Given the description of an element on the screen output the (x, y) to click on. 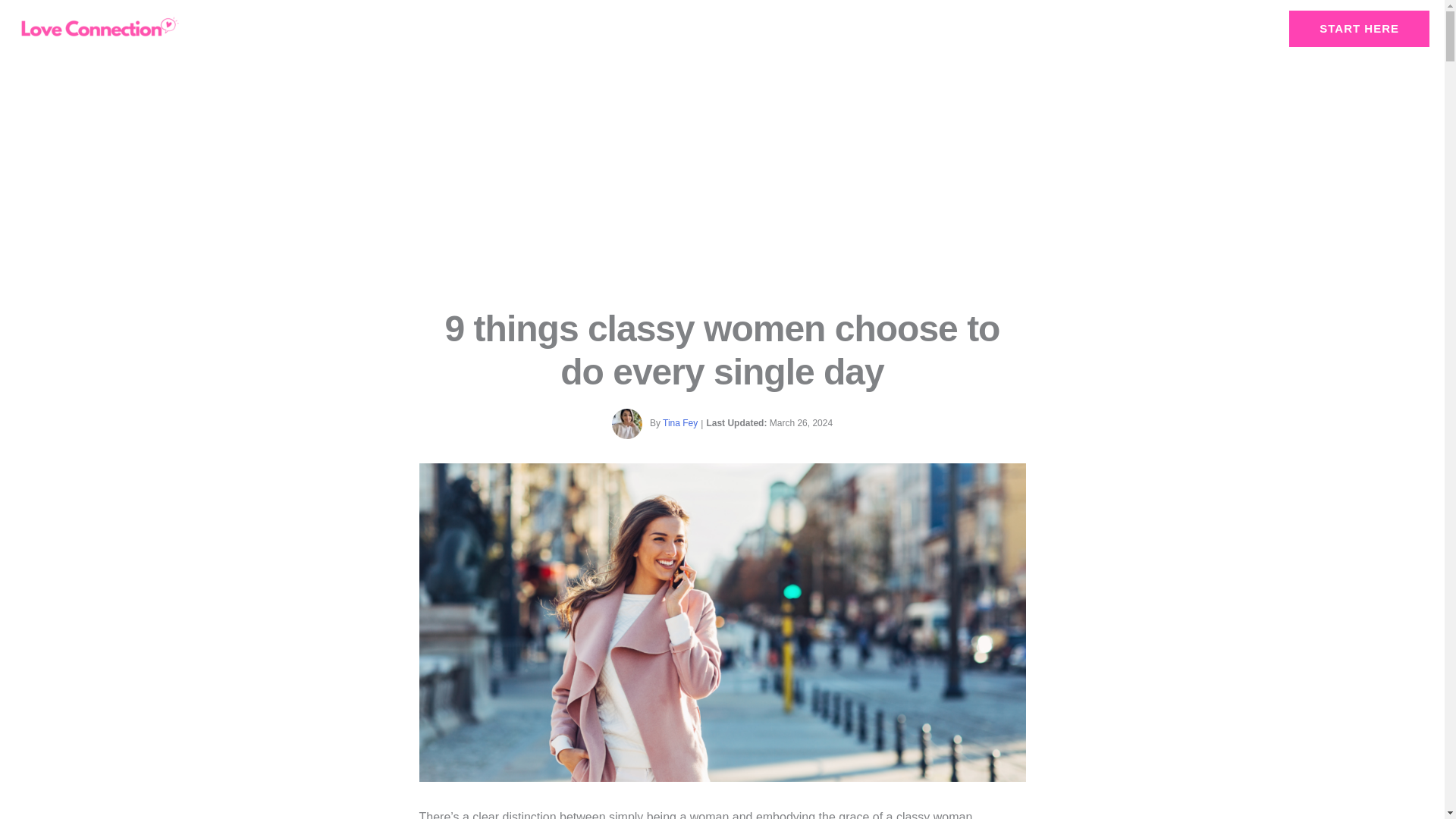
ABOUT US (815, 28)
START HERE (1358, 28)
MY BOOKS (754, 28)
RELATIONSHIP ADVICE (660, 28)
View all posts by Tina Fey (679, 422)
